Given the description of an element on the screen output the (x, y) to click on. 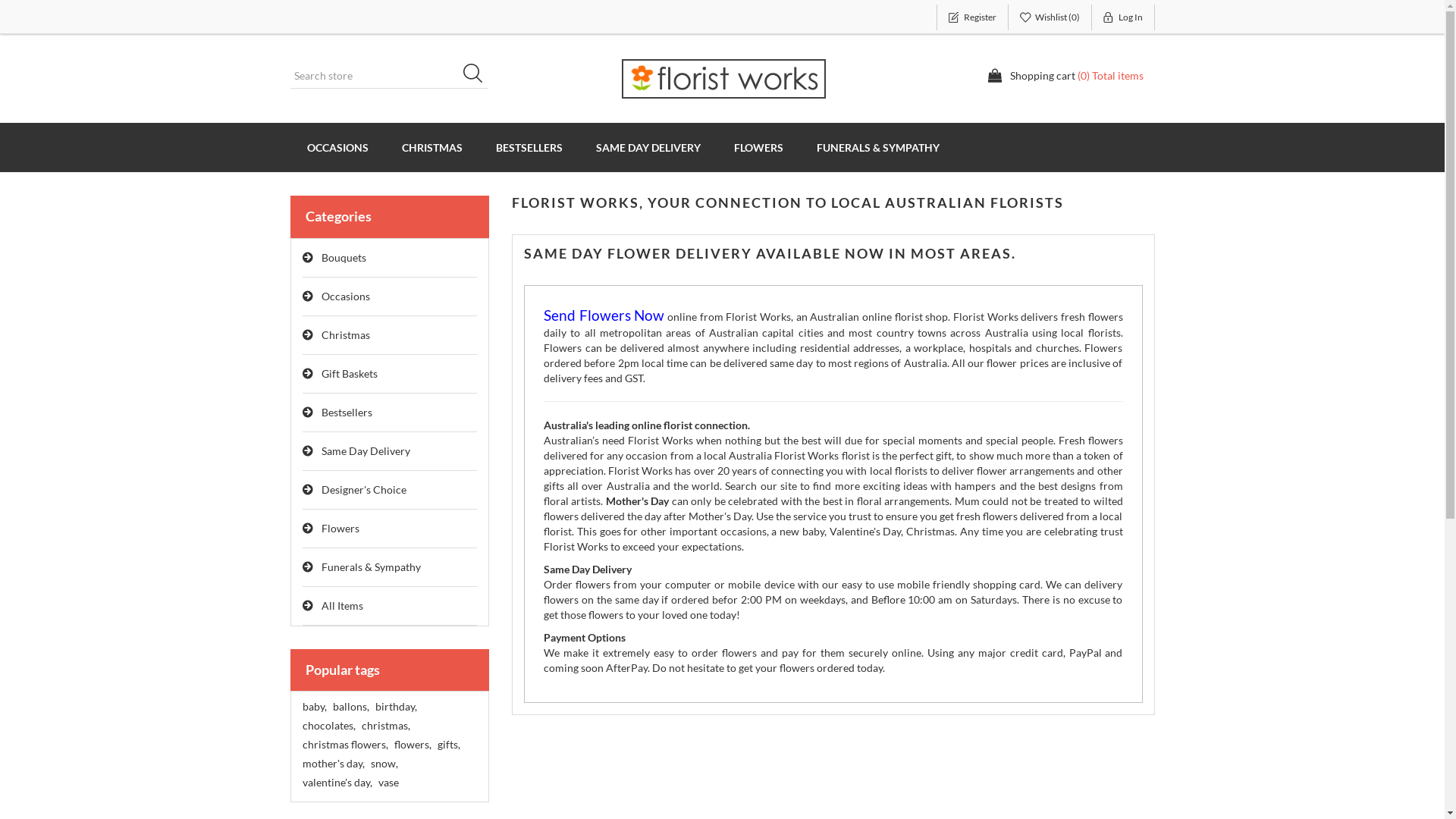
gifts, Element type: text (447, 744)
valentine's day, Element type: text (336, 782)
CHRISTMAS Element type: text (432, 147)
flowers, Element type: text (412, 744)
Gift Baskets Element type: text (388, 373)
Shopping cart (0) Total items Element type: text (1065, 75)
Bestsellers Element type: text (388, 412)
Christmas Element type: text (388, 335)
baby, Element type: text (313, 706)
vase Element type: text (387, 782)
FLOWERS Element type: text (758, 147)
FUNERALS & SYMPATHY Element type: text (877, 147)
snow, Element type: text (383, 763)
All Items Element type: text (388, 605)
birthday, Element type: text (395, 706)
OCCASIONS Element type: text (336, 147)
ballons, Element type: text (350, 706)
Bouquets Element type: text (388, 257)
christmas, Element type: text (384, 725)
christmas flowers, Element type: text (344, 744)
chocolates, Element type: text (327, 725)
Flowers Element type: text (388, 528)
Same Day Delivery Element type: text (388, 451)
BESTSELLERS Element type: text (529, 147)
mother's day, Element type: text (332, 763)
SAME DAY DELIVERY Element type: text (648, 147)
Send Flowers Now Element type: text (603, 316)
Wishlist (0) Element type: text (1050, 17)
Designer's Choice Element type: text (388, 489)
Funerals & Sympathy Element type: text (388, 567)
Log In Element type: text (1123, 17)
Occasions Element type: text (388, 296)
Register Element type: text (971, 17)
